Given the description of an element on the screen output the (x, y) to click on. 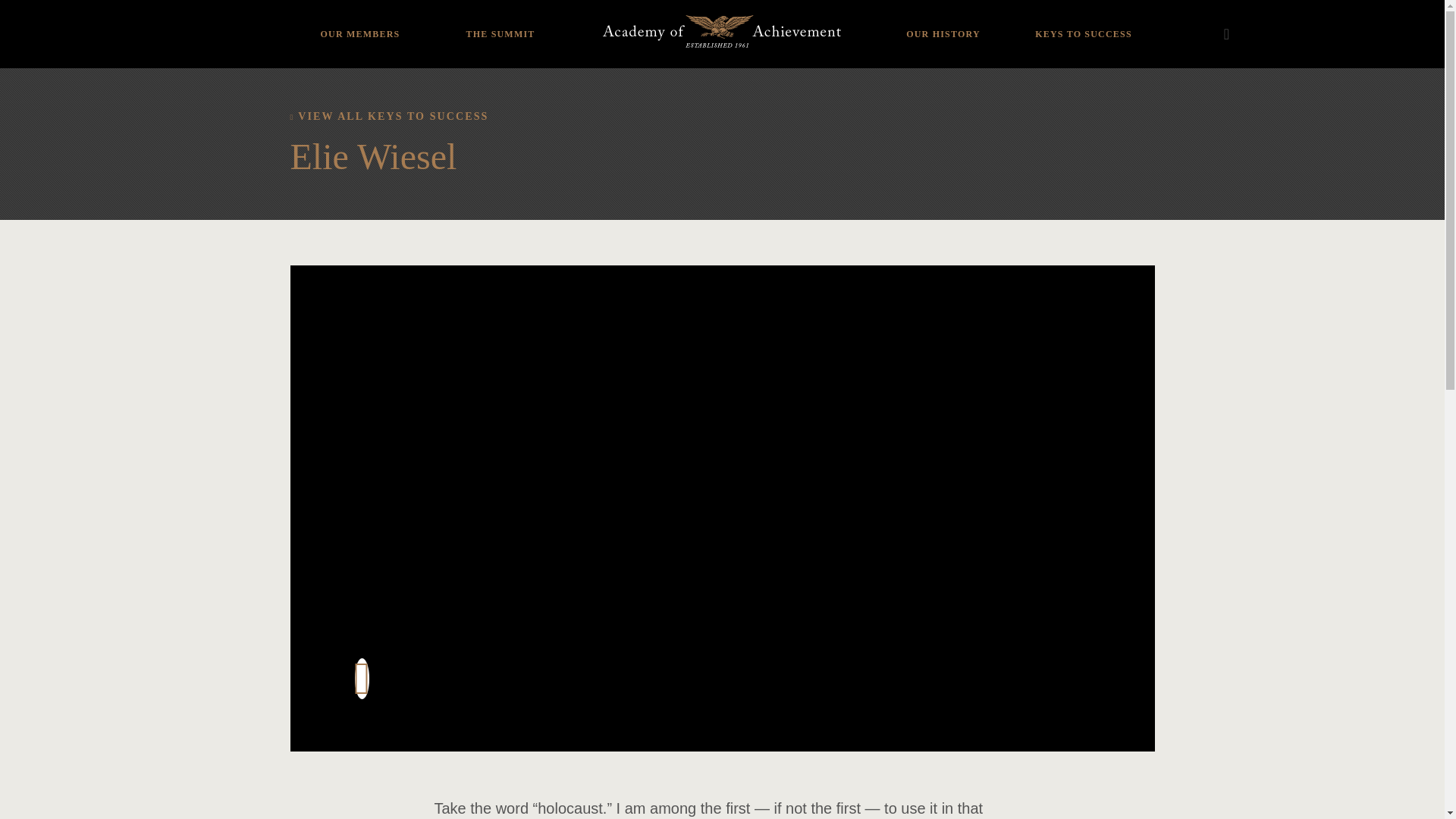
GOLDEN PLATE AWARDEES (943, 18)
ACHIEVER UNIVERSE (359, 23)
OUR HISTORY (943, 22)
KEYS TO SUCCESS (1083, 22)
SPORTS (359, 5)
2003 (464, 5)
THE SUMMIT (500, 22)
2002 (464, 23)
OUR MEMBERS (359, 22)
